Given the description of an element on the screen output the (x, y) to click on. 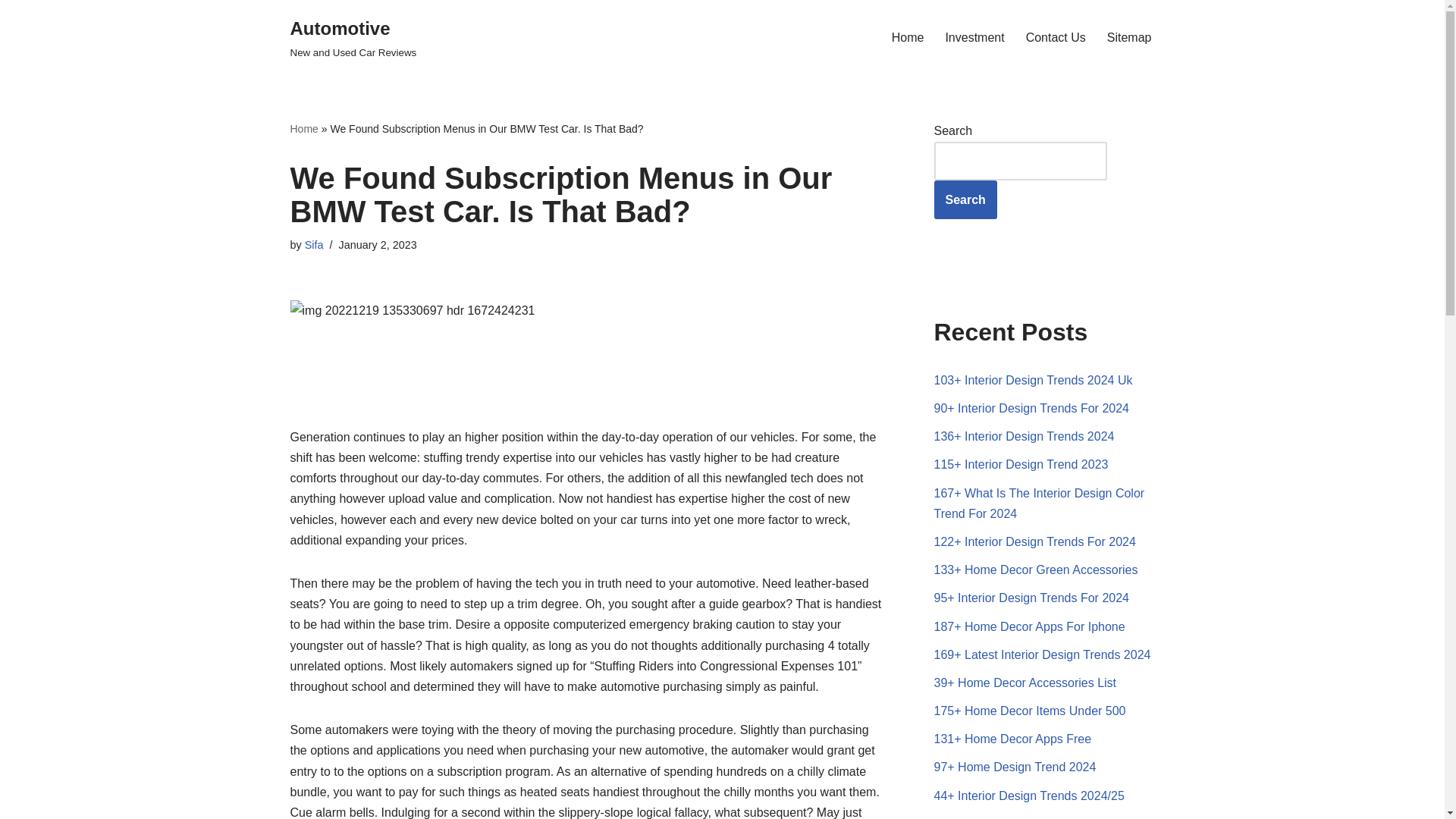
Posts by Sifa (352, 37)
Sitemap (313, 244)
Home (1128, 37)
Search (303, 128)
Contact Us (965, 200)
Sifa (1056, 37)
Skip to content (313, 244)
Home (11, 31)
Investment (907, 37)
